Given the description of an element on the screen output the (x, y) to click on. 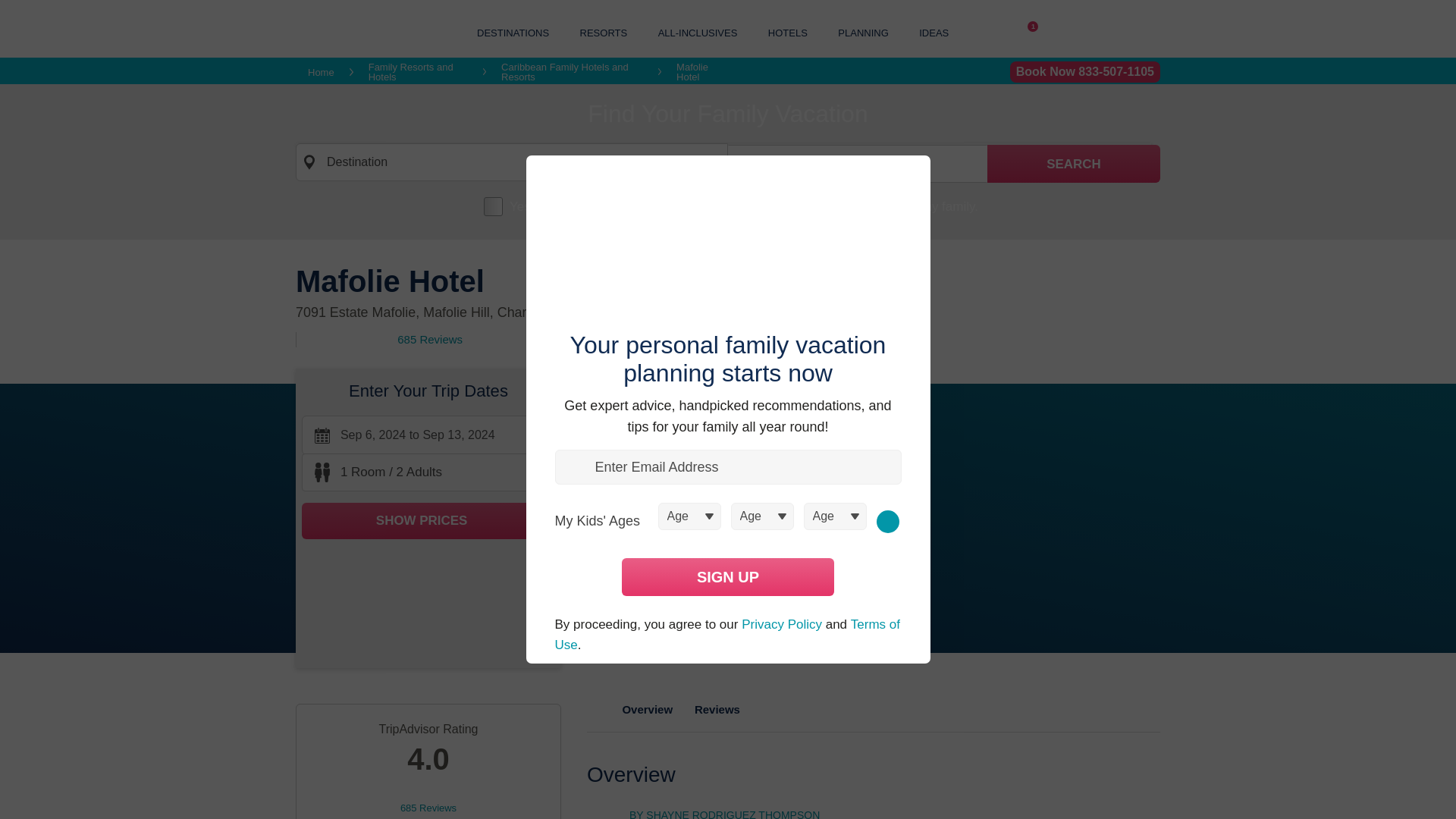
IDEAS (933, 32)
Search (1073, 163)
Sep 6, 2024 to Sep 13, 2024 (857, 163)
Sign Up (727, 576)
Family Resorts and Hotels (417, 71)
Search (1073, 163)
Search (1073, 163)
Home (320, 71)
DESTINATIONS (512, 32)
Book Now 833-507-1105 (1085, 71)
